Given the description of an element on the screen output the (x, y) to click on. 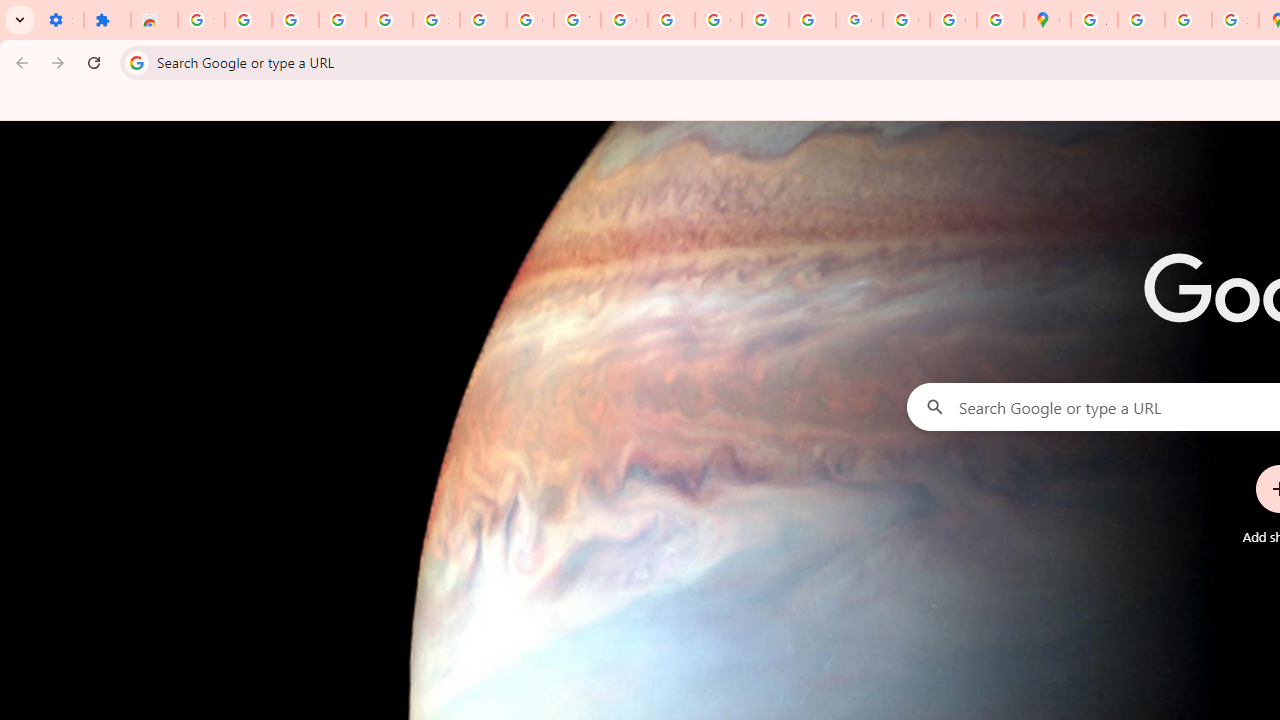
https://scholar.google.com/ (671, 20)
YouTube (577, 20)
Google Maps (1047, 20)
Settings - On startup (60, 20)
Google Account (530, 20)
Reviews: Helix Fruit Jump Arcade Game (153, 20)
Safety in Our Products - Google Safety Center (1235, 20)
